Given the description of an element on the screen output the (x, y) to click on. 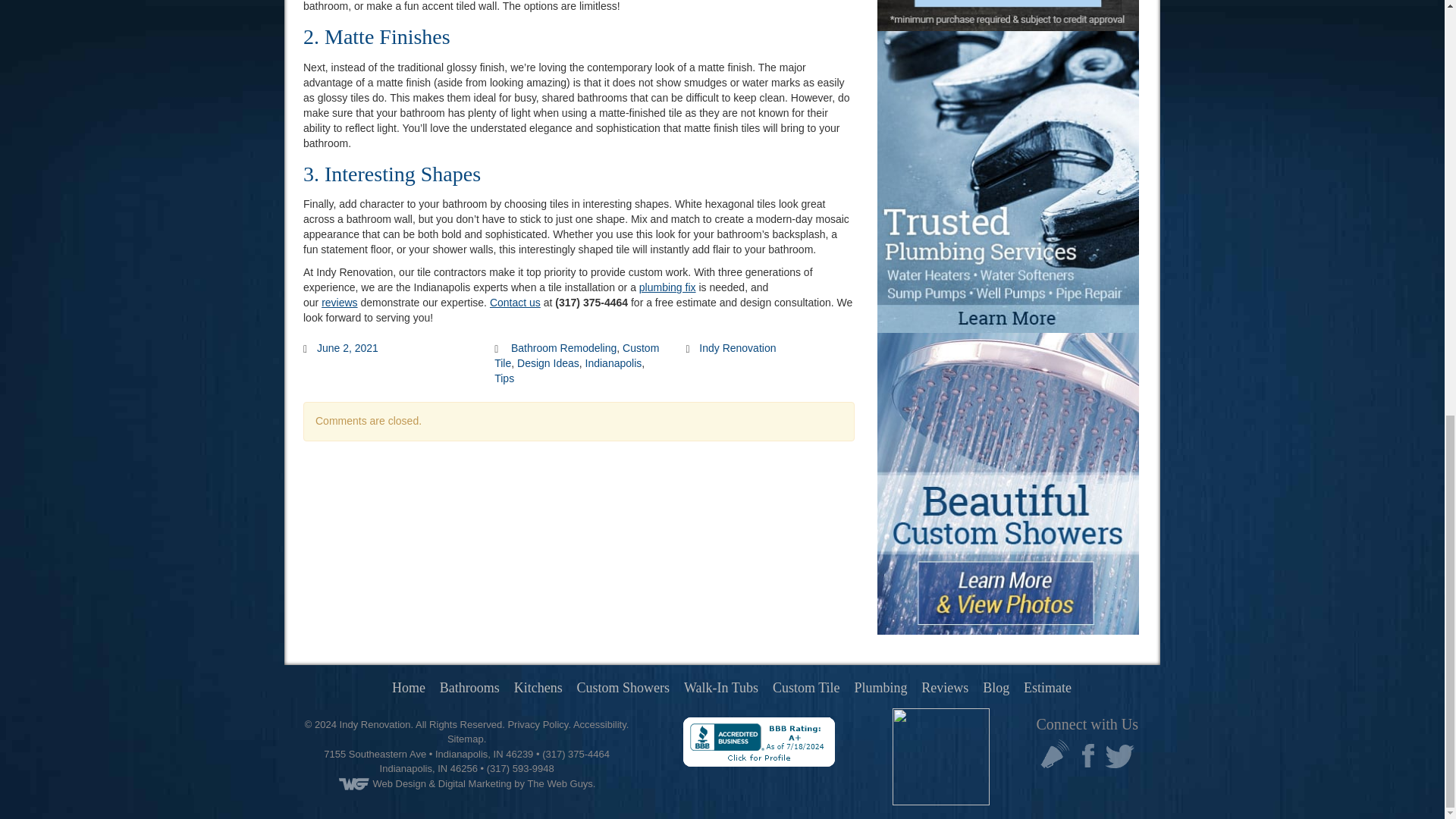
Bathroom Remodel and Plumbing Services in Indy (408, 687)
Custom Tile  (806, 687)
Walk-In Tub Installation (721, 687)
Plumbing Services (880, 687)
Custom Shower (622, 687)
Permalink to Top 3 Bathroom Tile Trends of 2021 (347, 347)
Blog (995, 687)
Customer Reviews (944, 687)
Bathroom Renovations (469, 687)
View all posts by Indy Renovation (737, 347)
